Given the description of an element on the screen output the (x, y) to click on. 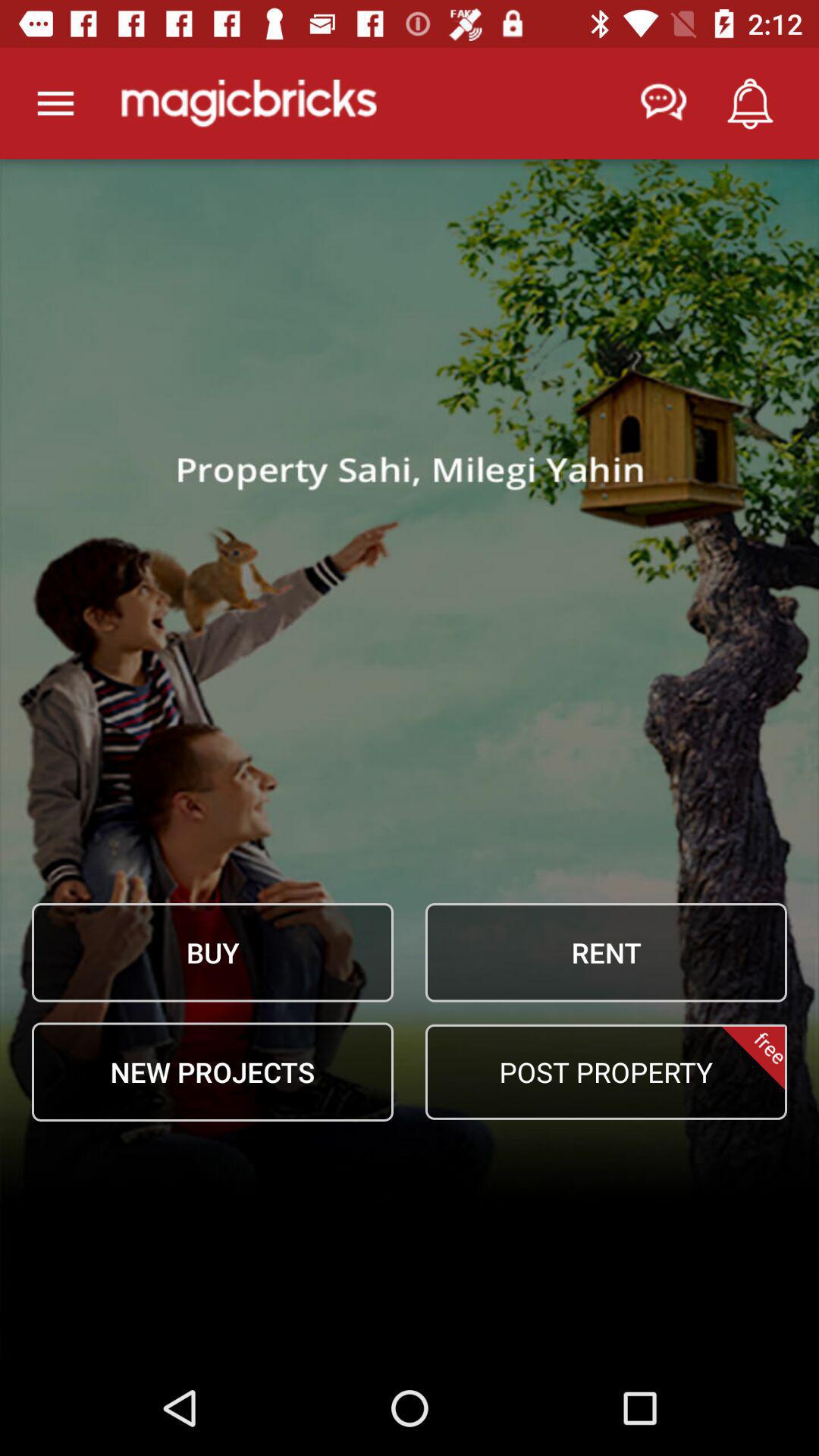
choose the item above new projects (212, 952)
